Given the description of an element on the screen output the (x, y) to click on. 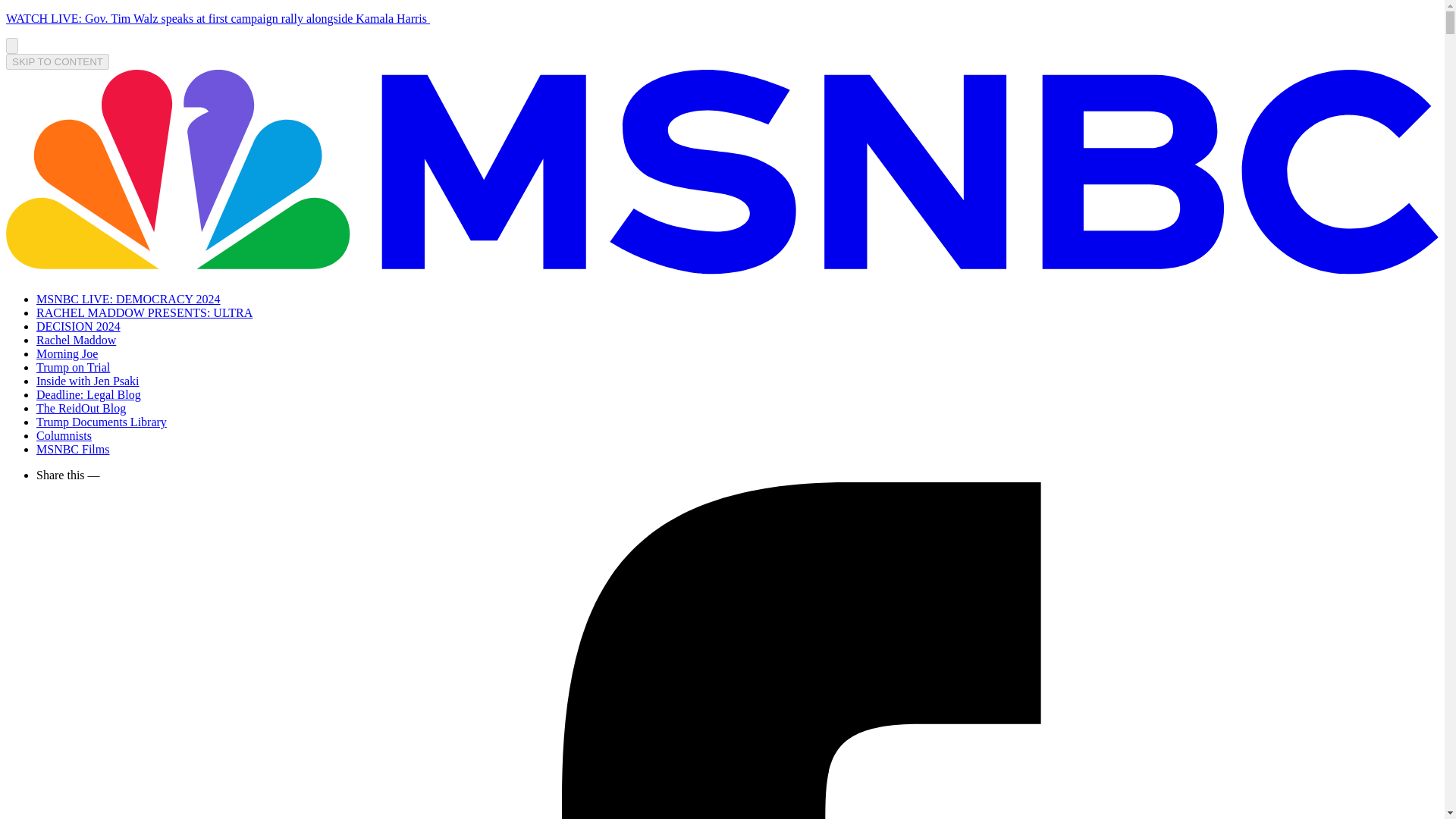
Morning Joe (66, 353)
The ReidOut Blog (80, 408)
MSNBC LIVE: DEMOCRACY 2024 (128, 298)
Deadline: Legal Blog (88, 394)
Inside with Jen Psaki (87, 380)
MSNBC Films (72, 449)
RACHEL MADDOW PRESENTS: ULTRA (143, 312)
DECISION 2024 (78, 326)
Columnists (63, 435)
